Given the description of an element on the screen output the (x, y) to click on. 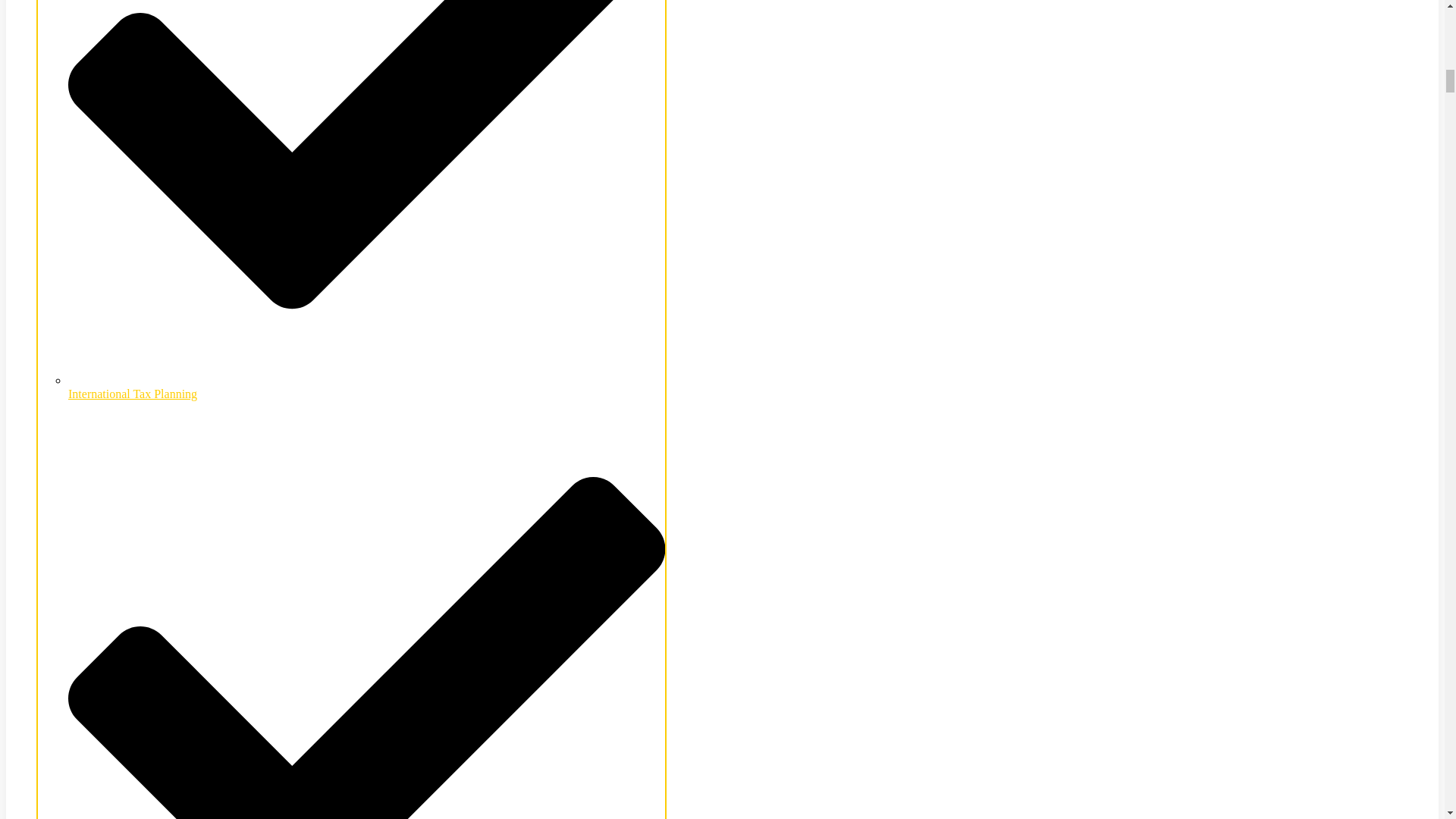
International Tax Planning (366, 386)
